Given the description of an element on the screen output the (x, y) to click on. 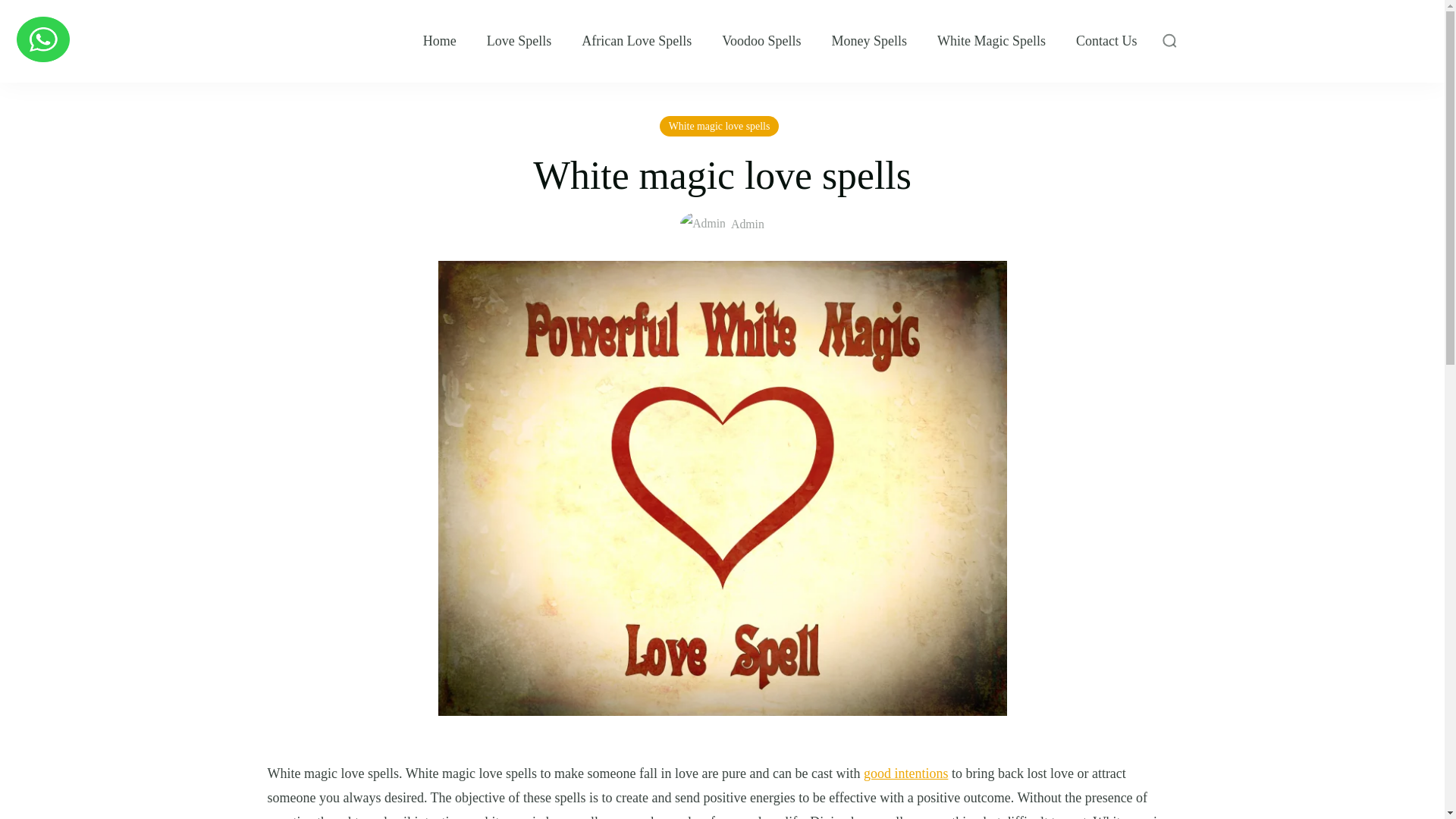
good intentions (906, 773)
Money Spells (869, 41)
Contact Us (1106, 41)
Love Spells (518, 41)
Admin (721, 223)
White Magic Spells (991, 41)
Home (440, 41)
African Love Spells (635, 41)
Voodoo Spells (761, 41)
White magic love spells (718, 126)
